Given the description of an element on the screen output the (x, y) to click on. 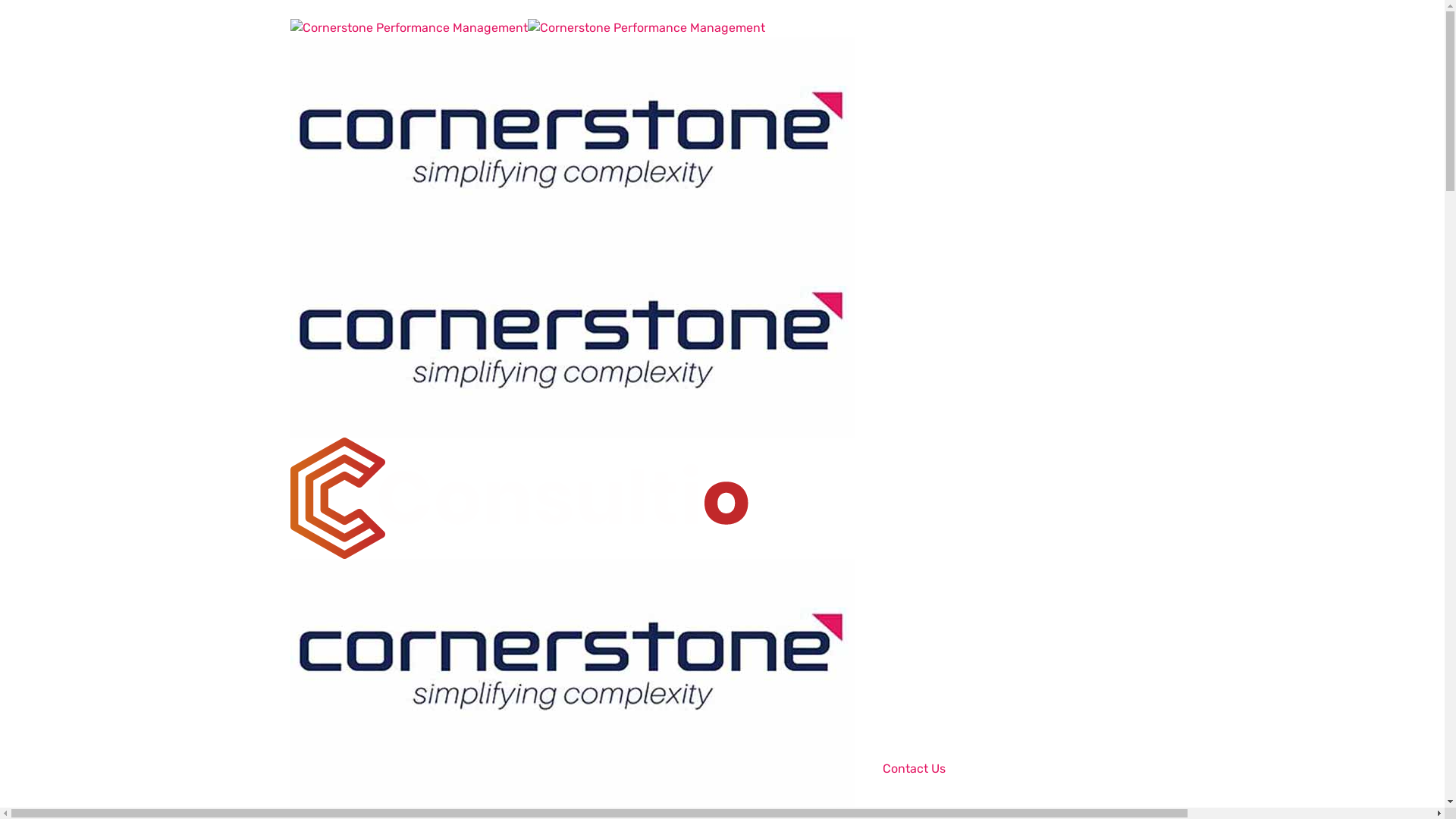
Cornerstone Performance Management Element type: hover (646, 26)
Cornerstone Performance Management Element type: hover (571, 657)
Contact Us Element type: text (913, 768)
Cornerstone Performance Management Element type: hover (519, 496)
Cornerstone Performance Management Element type: hover (571, 135)
Cornerstone Performance Management Element type: hover (571, 336)
Cornerstone Performance Management Element type: hover (408, 26)
